Given the description of an element on the screen output the (x, y) to click on. 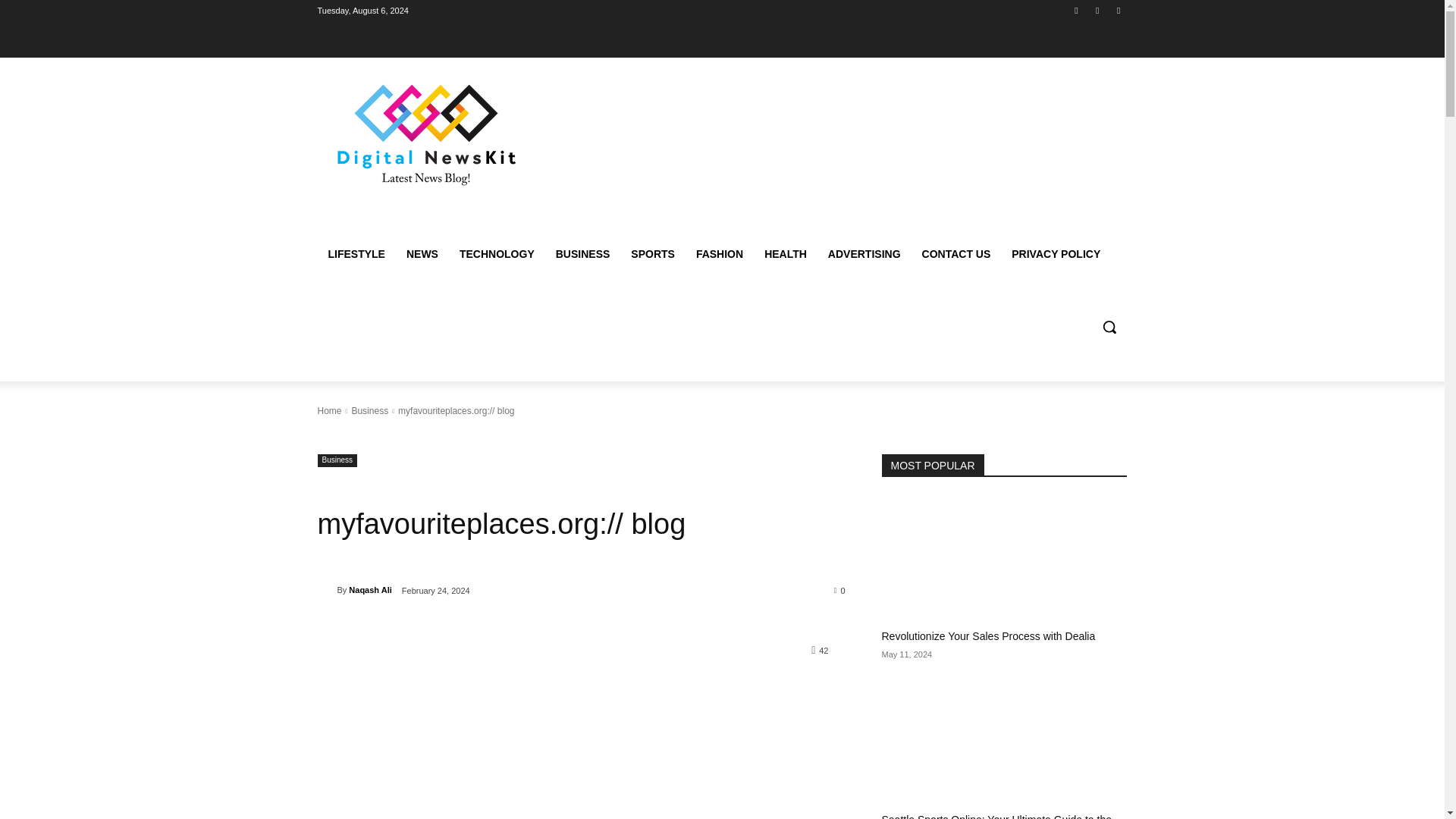
Naqash Ali (370, 589)
HEALTH (785, 253)
Instagram (1075, 9)
0 (839, 589)
Home (328, 410)
View all posts in Business (369, 410)
Business (369, 410)
Business (336, 460)
BUSINESS (582, 253)
CONTACT US (956, 253)
LIFESTYLE (355, 253)
SPORTS (652, 253)
ADVERTISING (863, 253)
Skype (1097, 9)
TECHNOLOGY (496, 253)
